Given the description of an element on the screen output the (x, y) to click on. 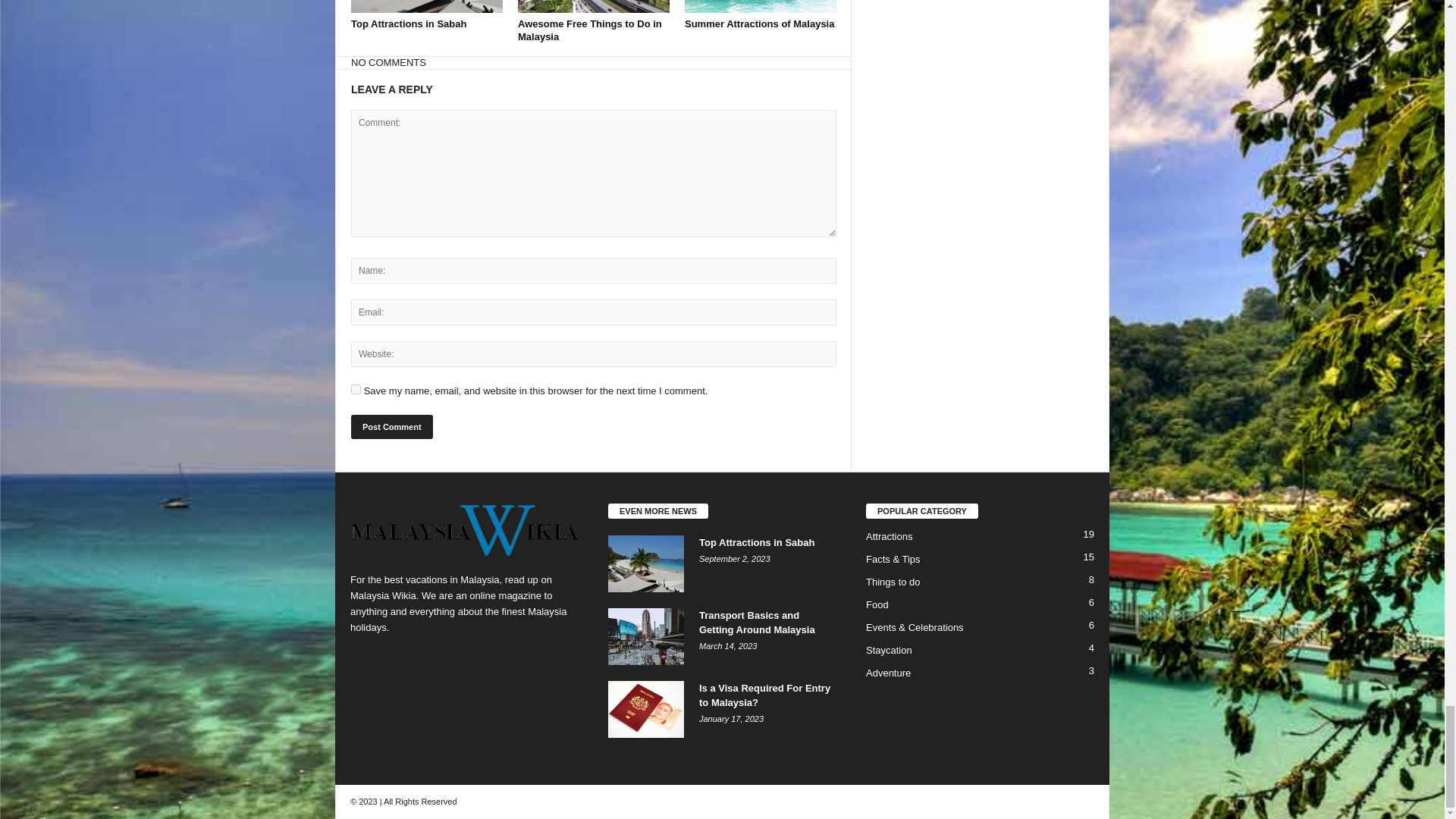
Awesome Free Things to Do in Malaysia (593, 6)
Summer Attractions of Malaysia (759, 6)
yes (355, 388)
Top Attractions in Sabah (426, 6)
Top Attractions in Sabah (407, 23)
Post Comment (391, 426)
Awesome Free Things to Do in Malaysia (590, 30)
Summer Attractions of Malaysia (759, 23)
